Given the description of an element on the screen output the (x, y) to click on. 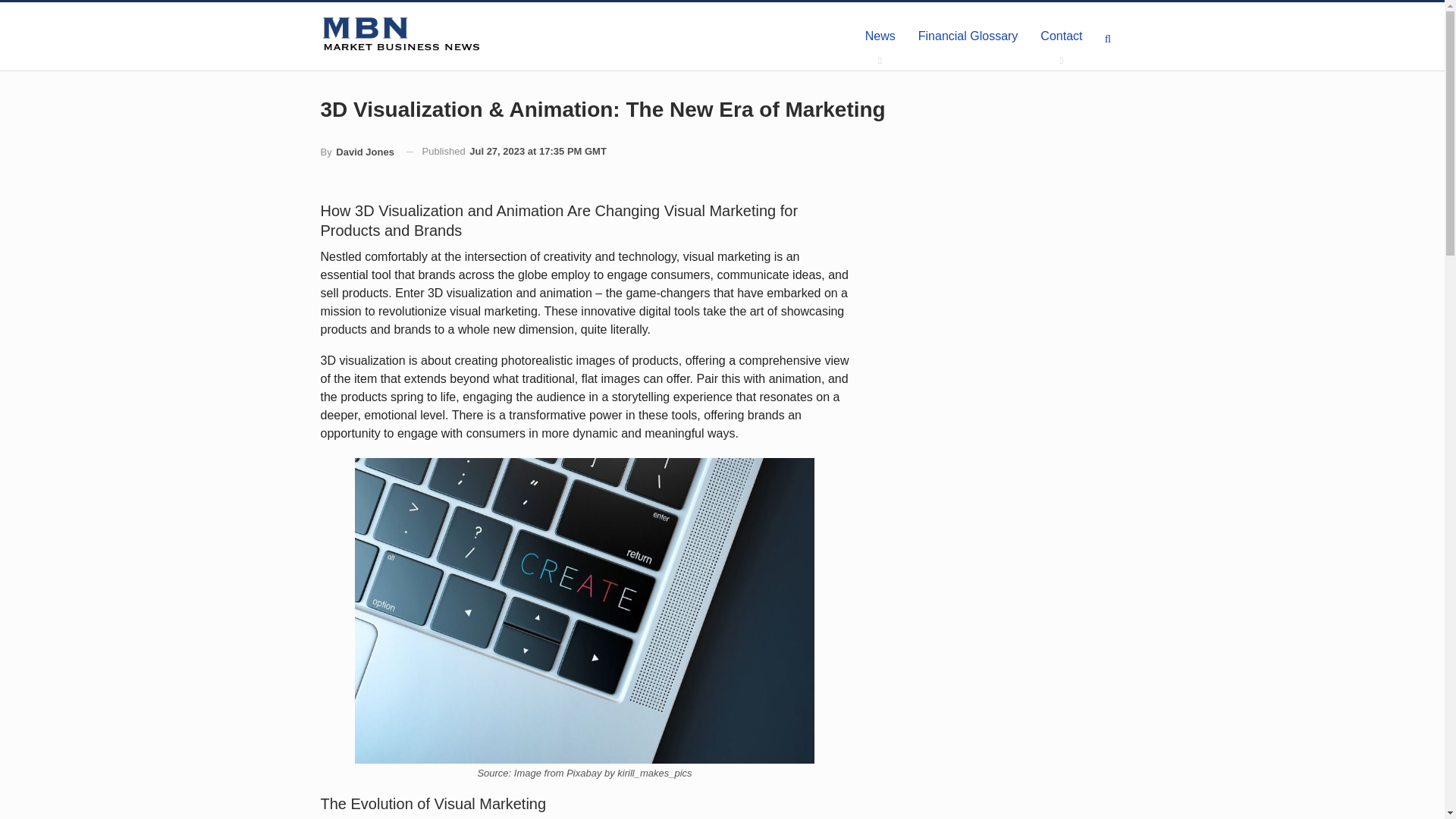
Financial Glossary (968, 36)
By David Jones (356, 152)
Browse Author Articles (356, 152)
Contact (1061, 36)
